Given the description of an element on the screen output the (x, y) to click on. 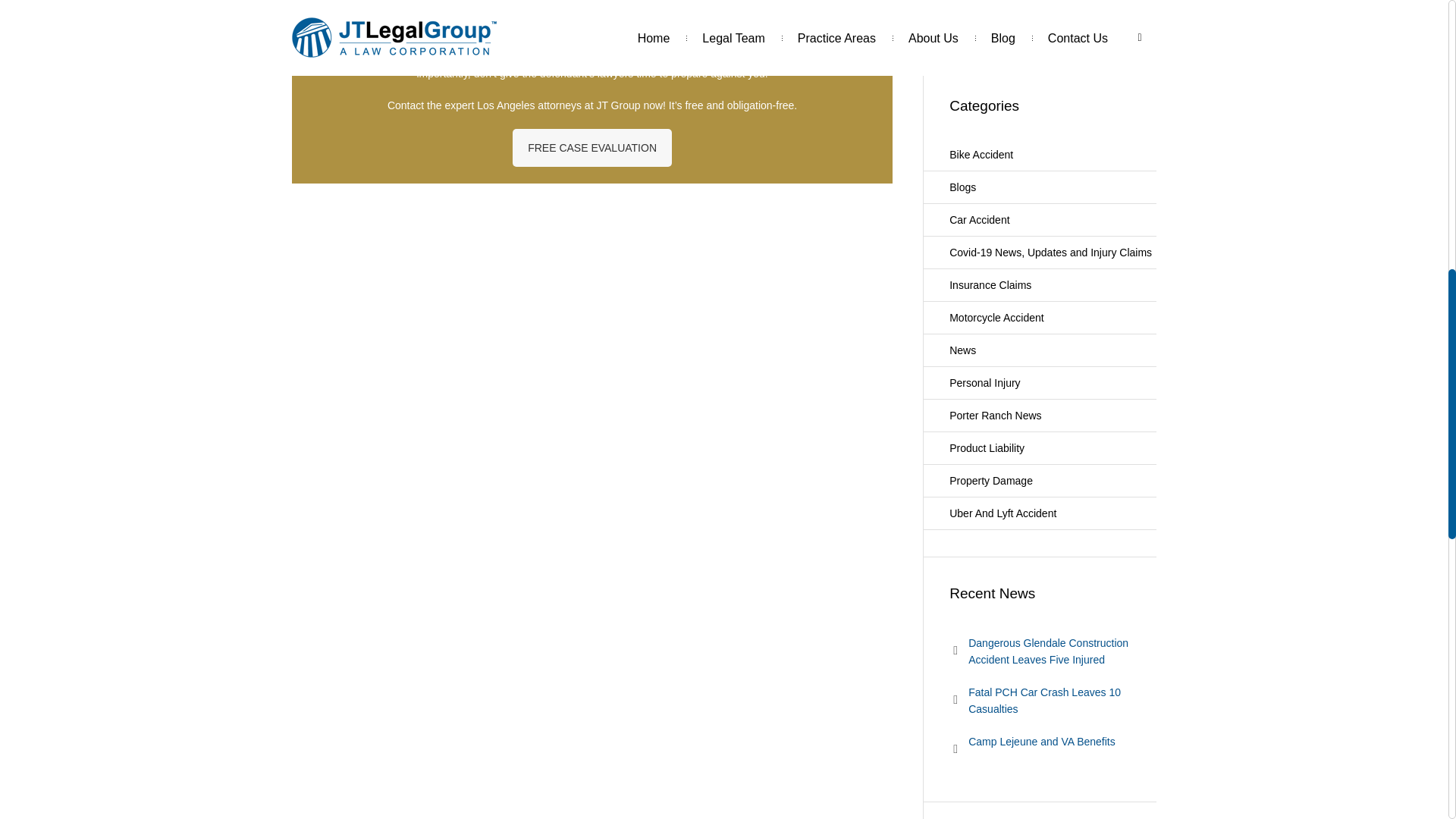
FREE CASE EVALUATION (591, 147)
Bike Accident (1039, 154)
Blogs (1039, 187)
